Given the description of an element on the screen output the (x, y) to click on. 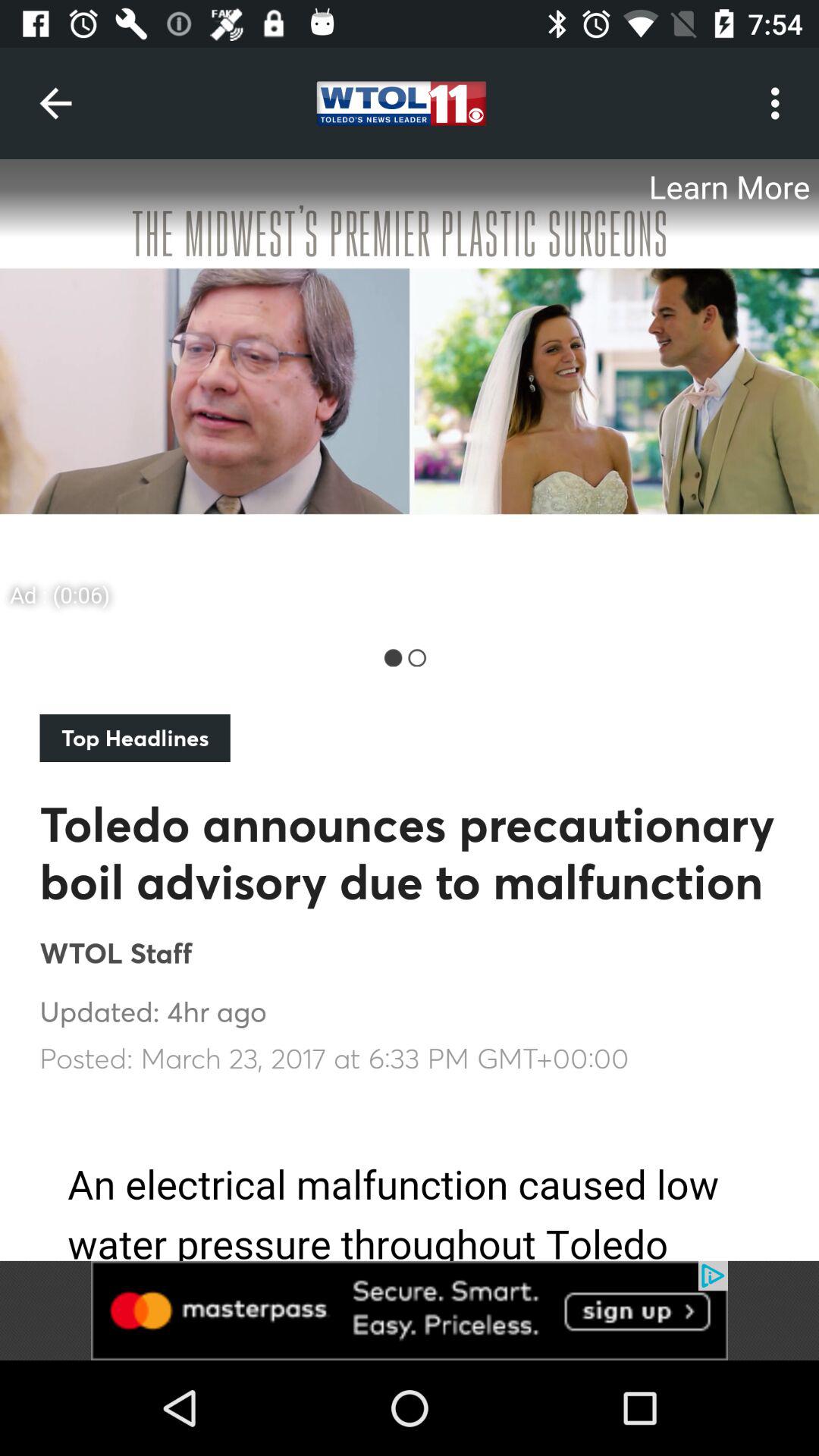
know about the advertisement (409, 1310)
